Given the description of an element on the screen output the (x, y) to click on. 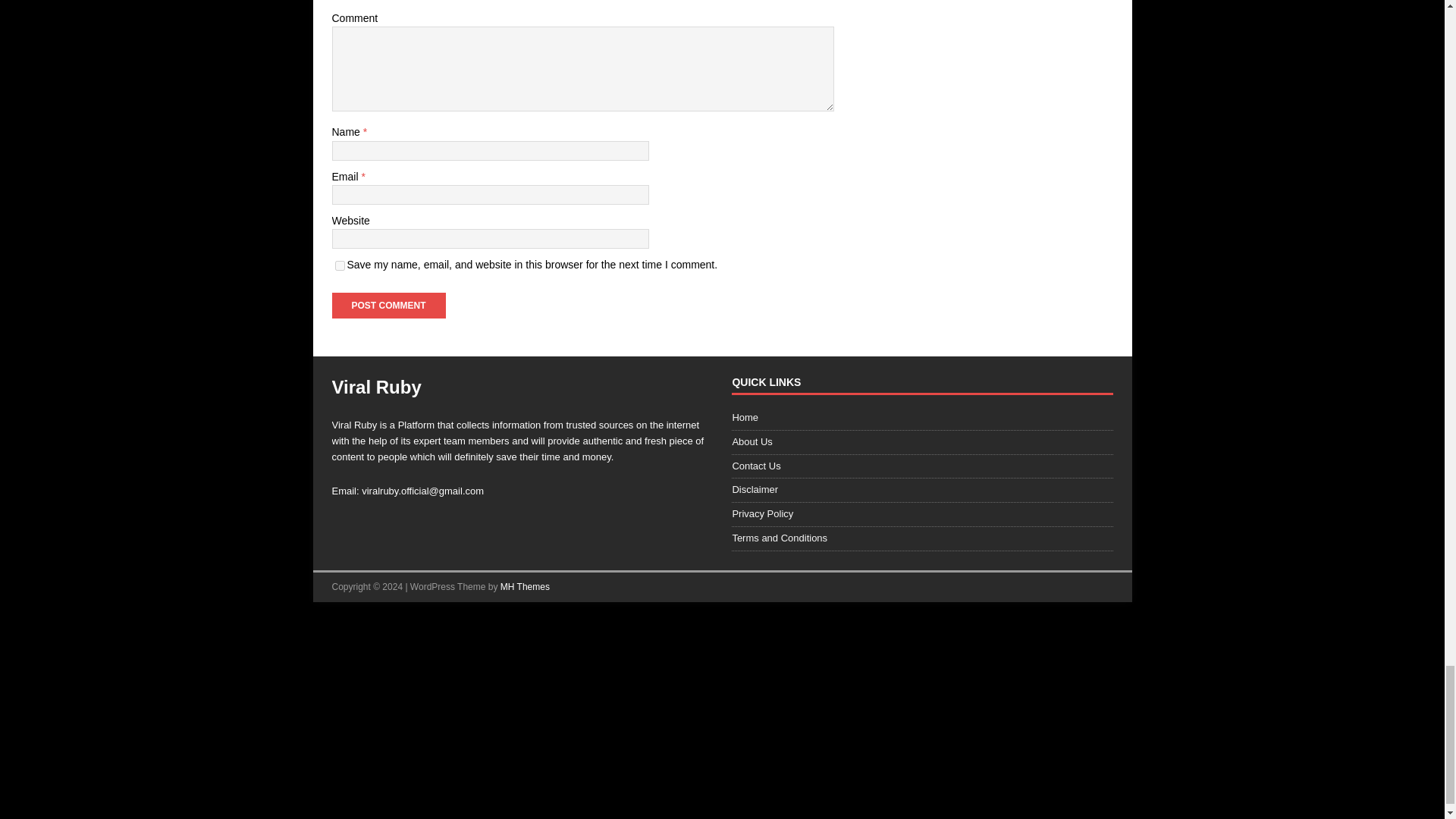
Post Comment (388, 305)
yes (339, 266)
Post Comment (388, 305)
